Given the description of an element on the screen output the (x, y) to click on. 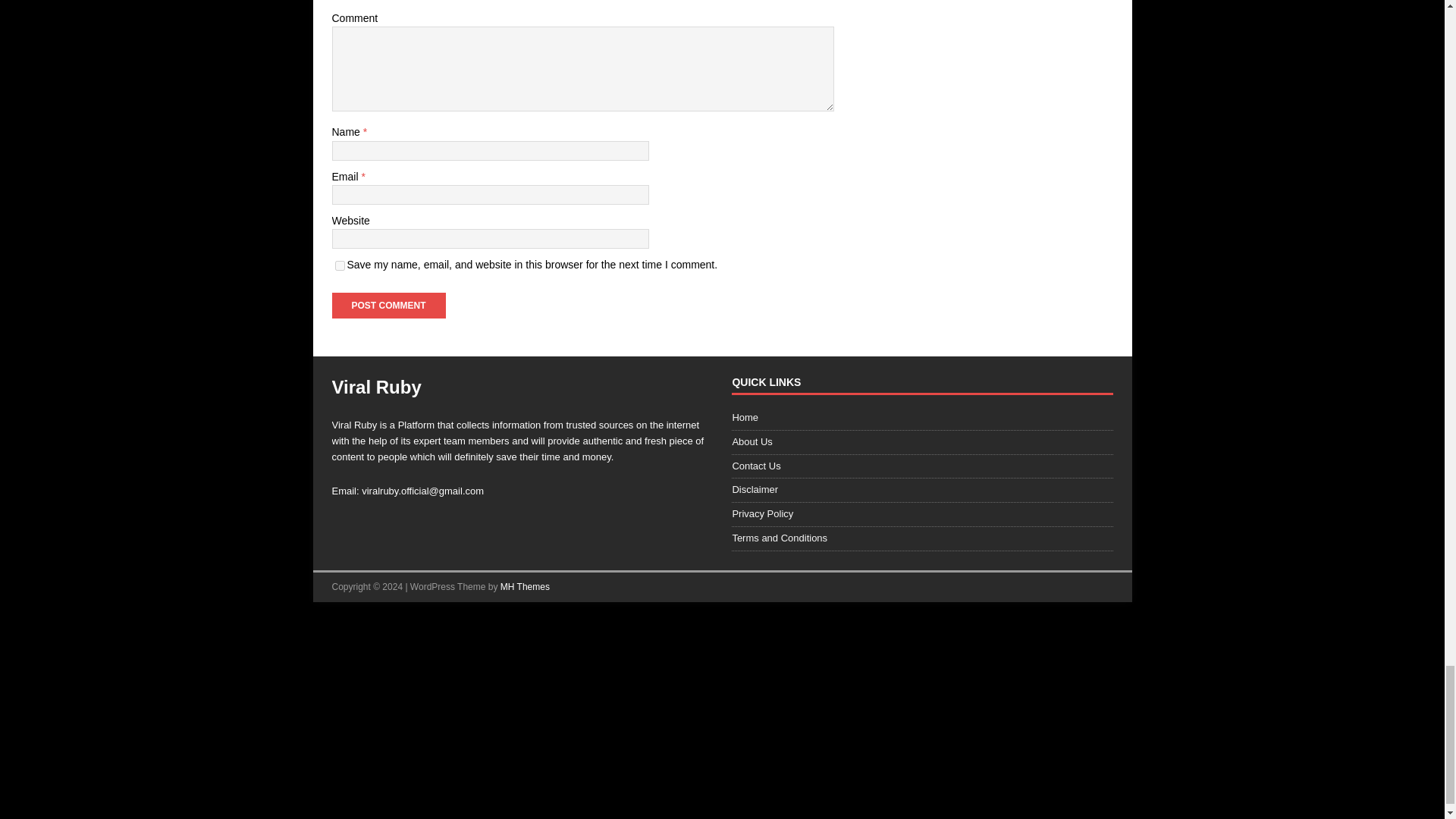
Post Comment (388, 305)
yes (339, 266)
Post Comment (388, 305)
